Given the description of an element on the screen output the (x, y) to click on. 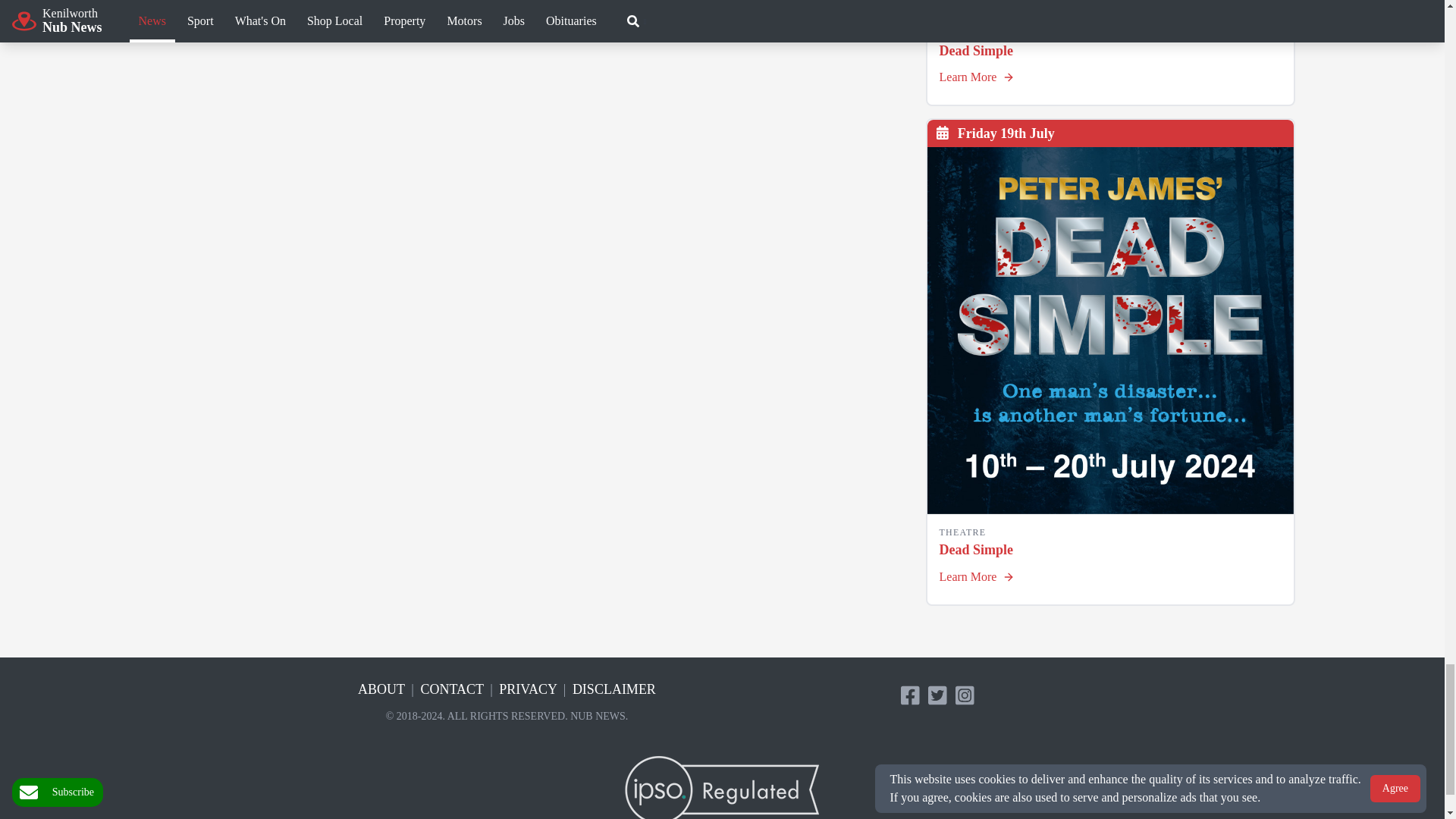
Dead Simple (1110, 7)
